Given the description of an element on the screen output the (x, y) to click on. 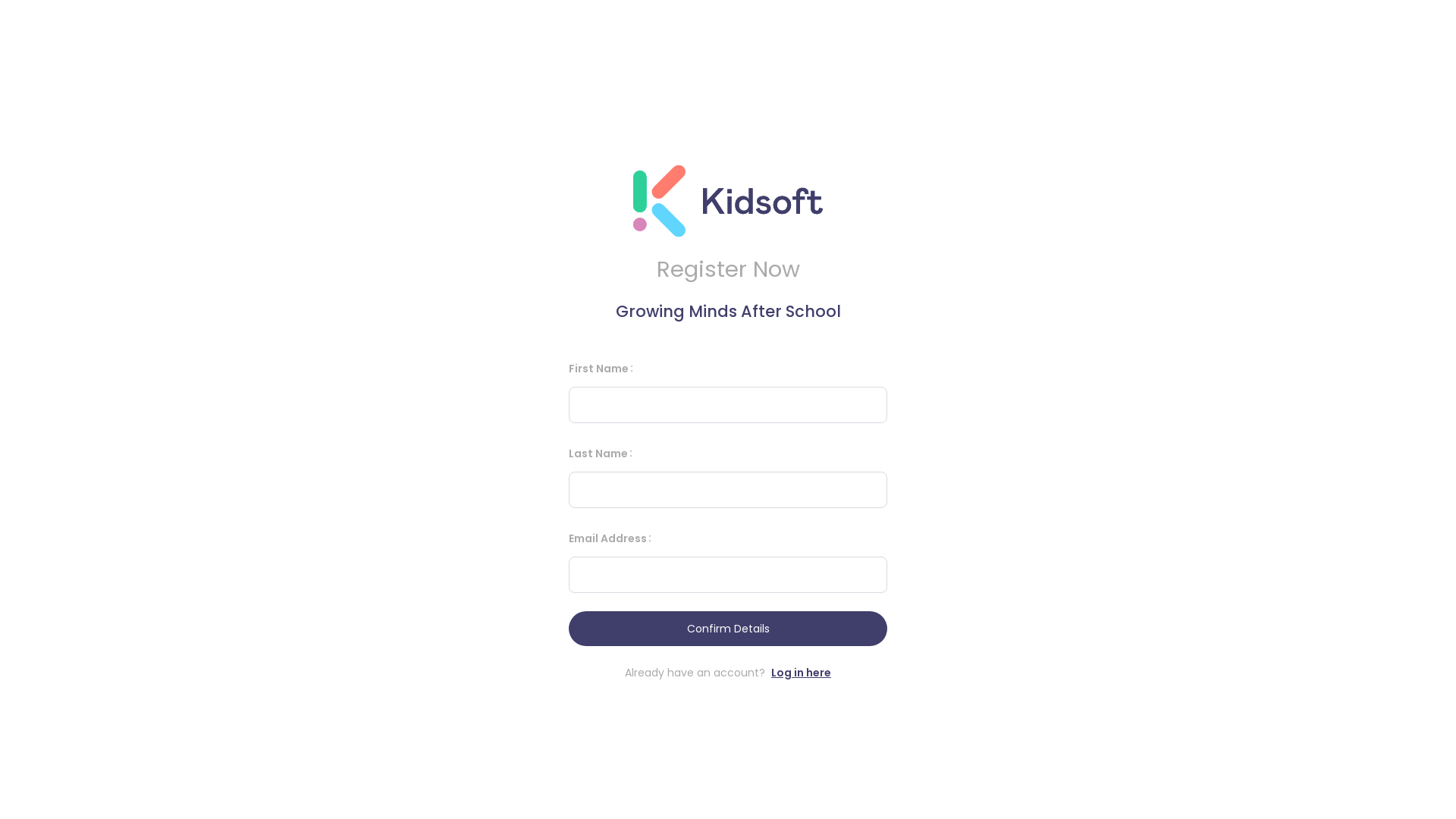
Confirm Details Element type: text (727, 628)
Log in here Element type: text (801, 672)
